Given the description of an element on the screen output the (x, y) to click on. 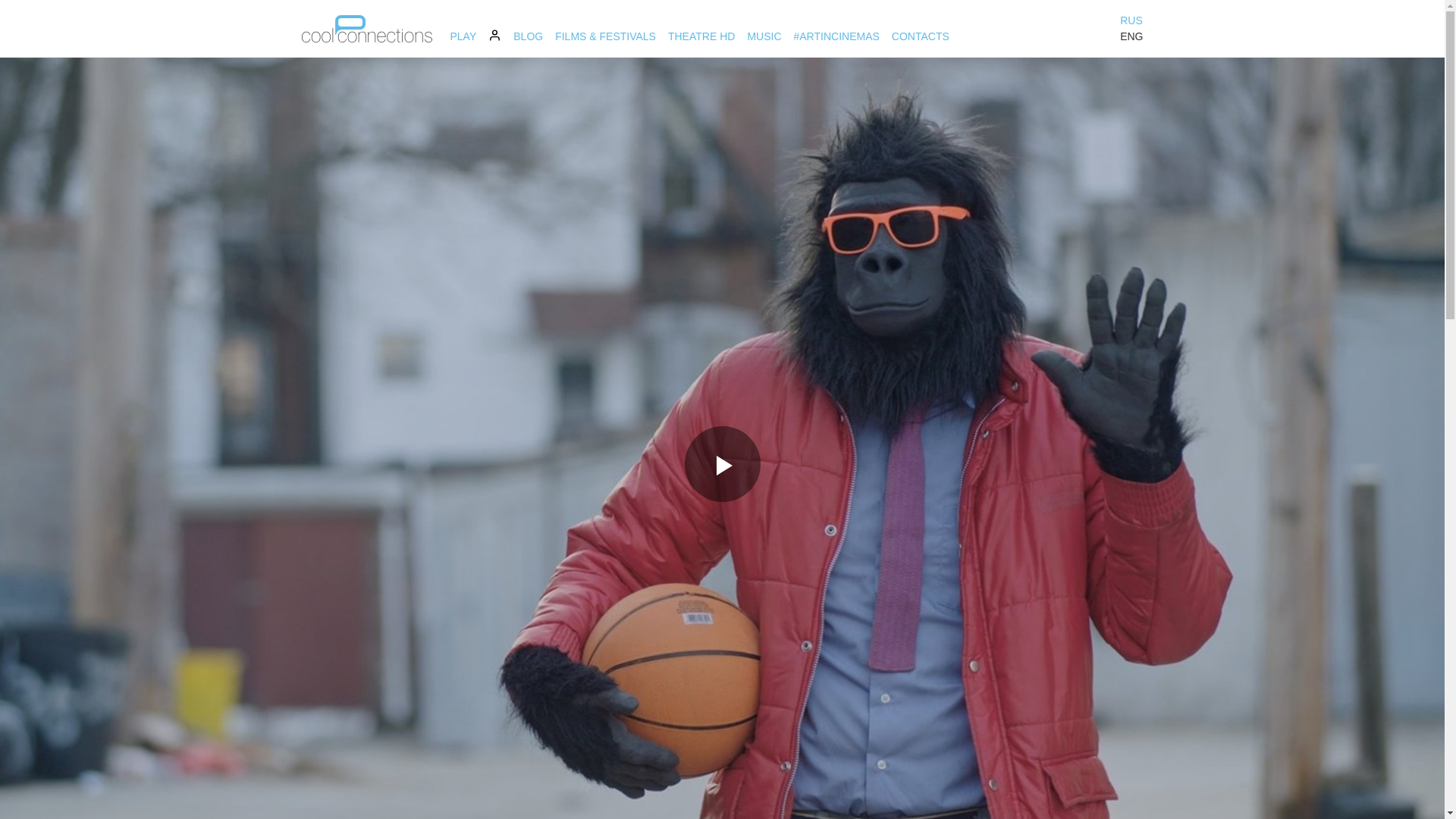
THEATRE HD (701, 36)
PLAY (463, 36)
CONTACTS (920, 36)
MUSIC (764, 36)
BLOG (527, 36)
RUS (1130, 19)
ENG (1130, 36)
